Given the description of an element on the screen output the (x, y) to click on. 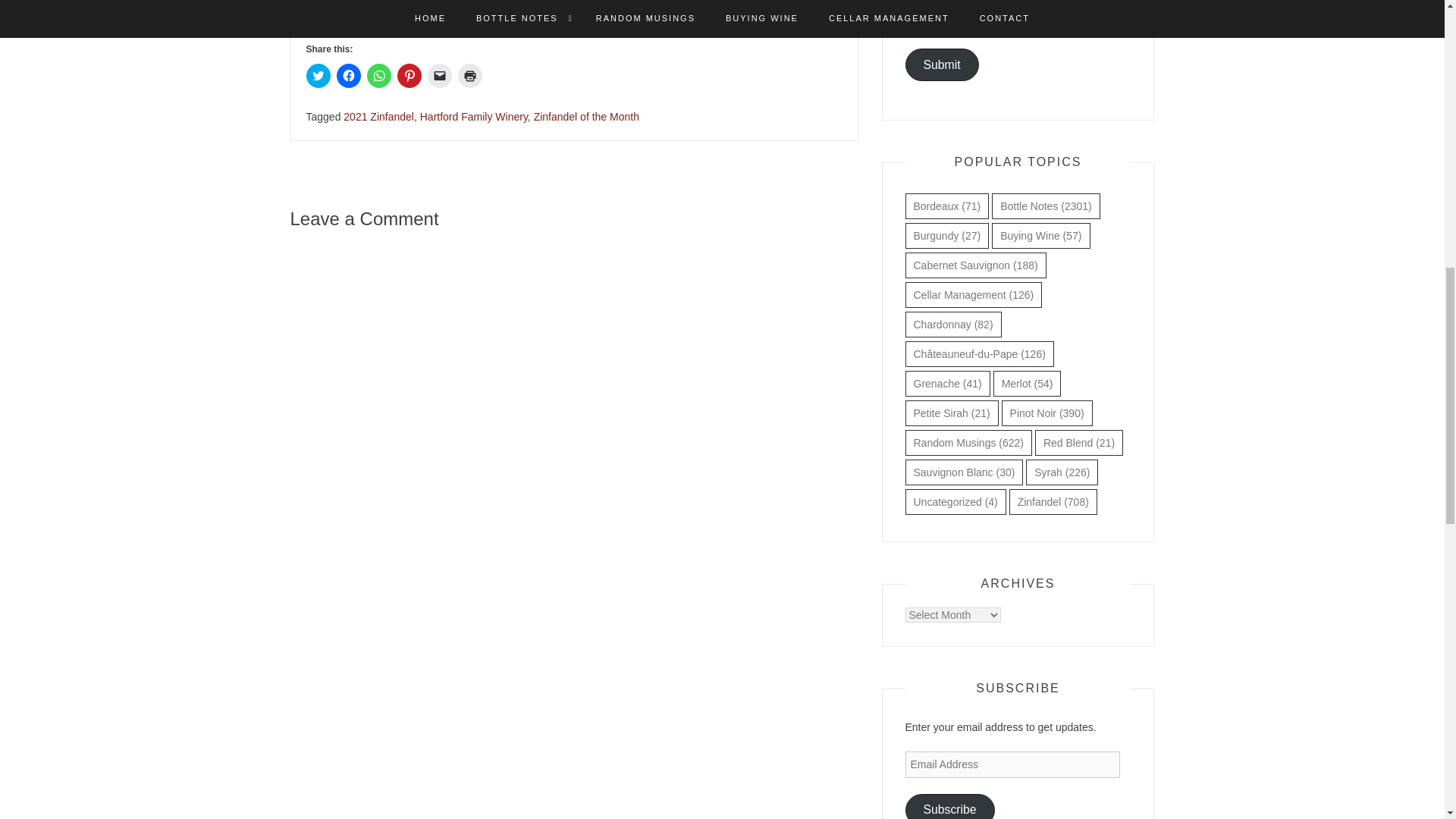
Click to print (469, 75)
Hartford Family Winery (473, 116)
Click to share on WhatsApp (378, 75)
Submit (941, 64)
Click to email a link to a friend (439, 75)
Click to share on Twitter (317, 75)
Click to share on Facebook (348, 75)
Zinfandel of the Month (586, 116)
Click to share on Pinterest (409, 75)
2021 Zinfandel (378, 116)
